Given the description of an element on the screen output the (x, y) to click on. 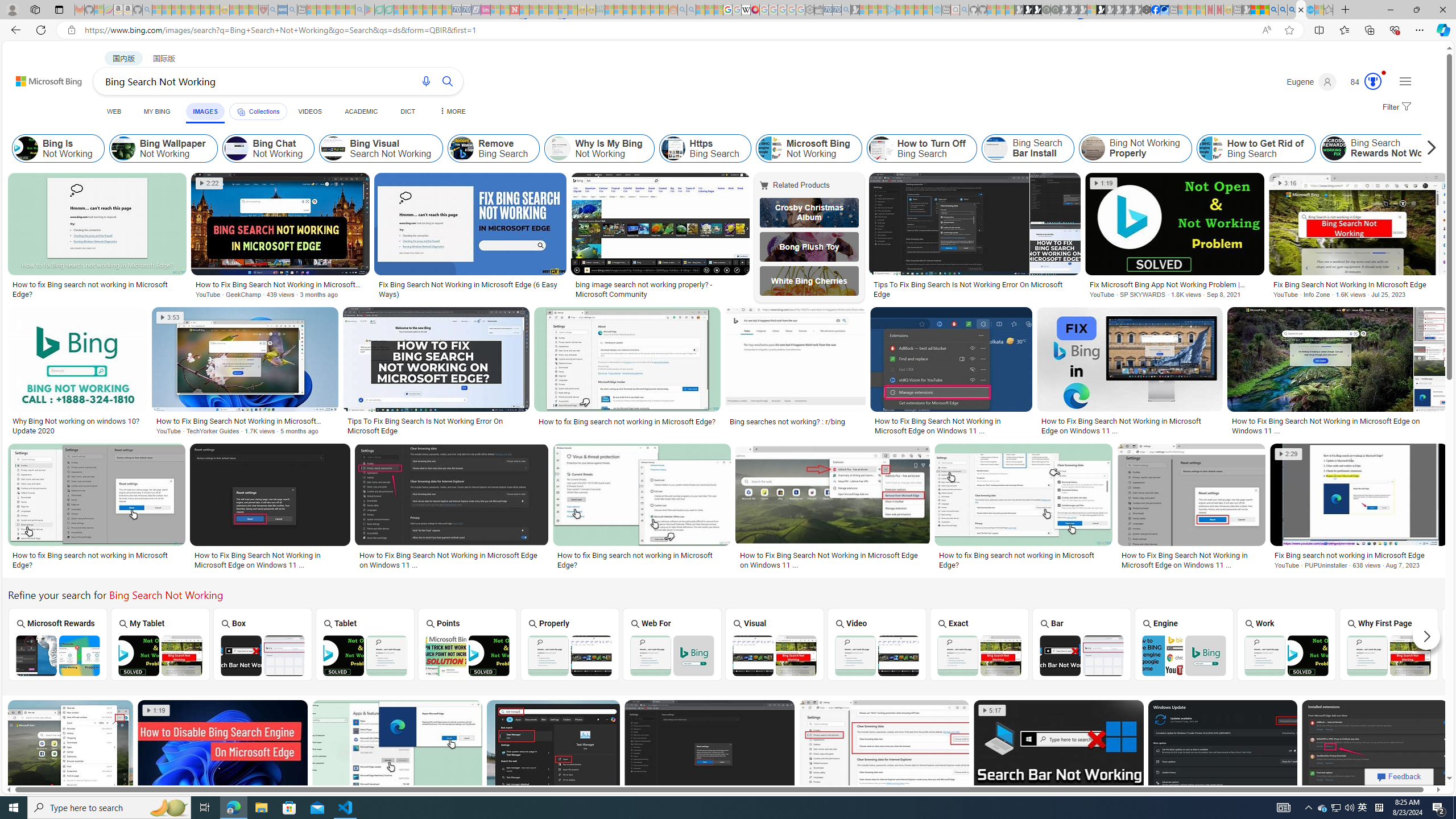
Bing Search Bar Install (1028, 148)
Filter (1395, 107)
Bing Not Working Properly (1092, 148)
Bing Wallpaper Not Working (162, 148)
